Given the description of an element on the screen output the (x, y) to click on. 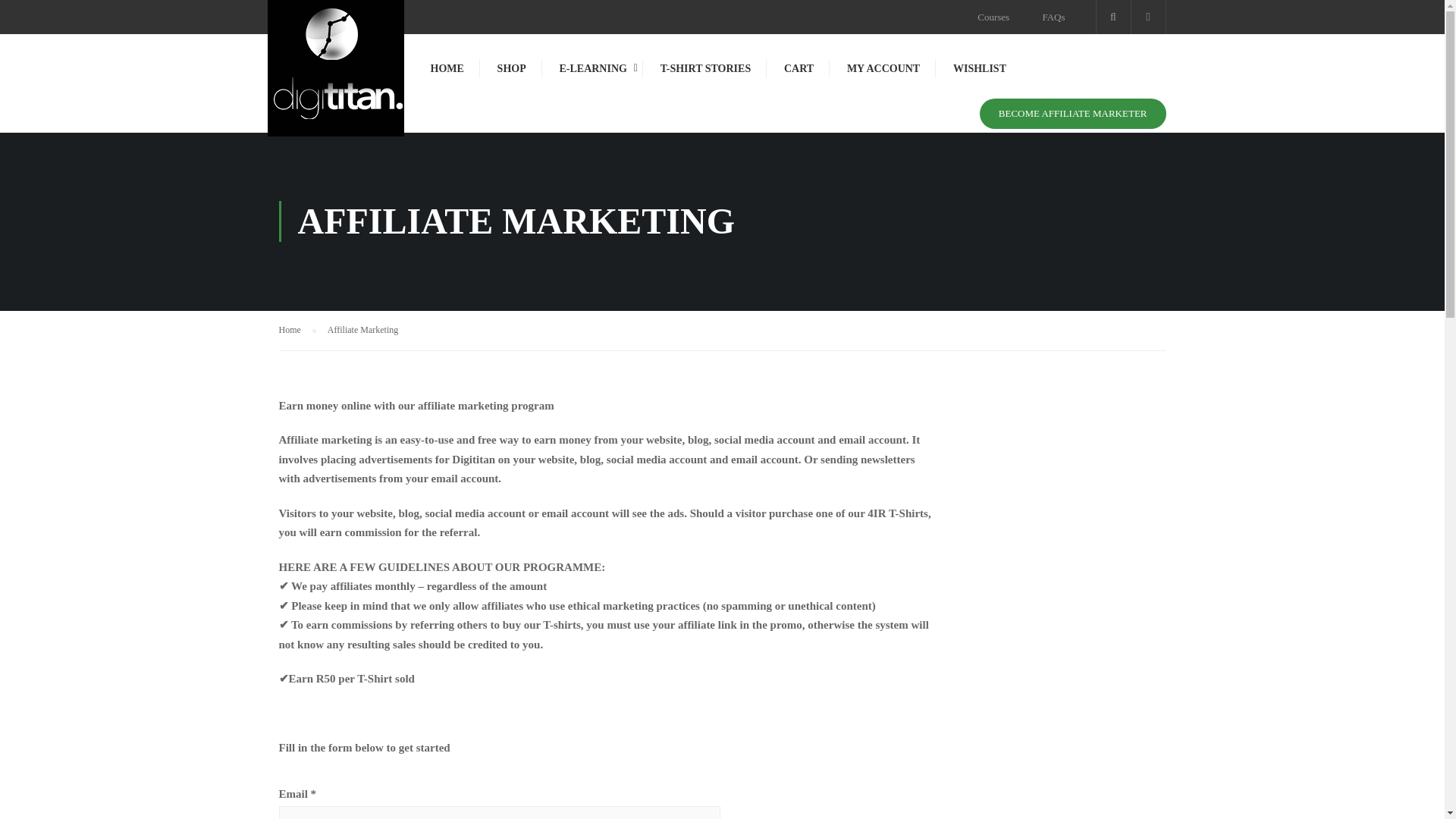
WISHLIST (979, 75)
Digititan - Digititan (334, 75)
Search (18, 15)
MY ACCOUNT (882, 75)
FAQs (1053, 16)
HOME (446, 75)
Affiliate Marketing (362, 329)
T-SHIRT STORIES (706, 75)
Courses (992, 16)
SHOP (511, 75)
E-LEARNING (592, 75)
Home (297, 330)
Login (834, 435)
BECOME AFFILIATE MARKETER (1072, 113)
CART (798, 75)
